Given the description of an element on the screen output the (x, y) to click on. 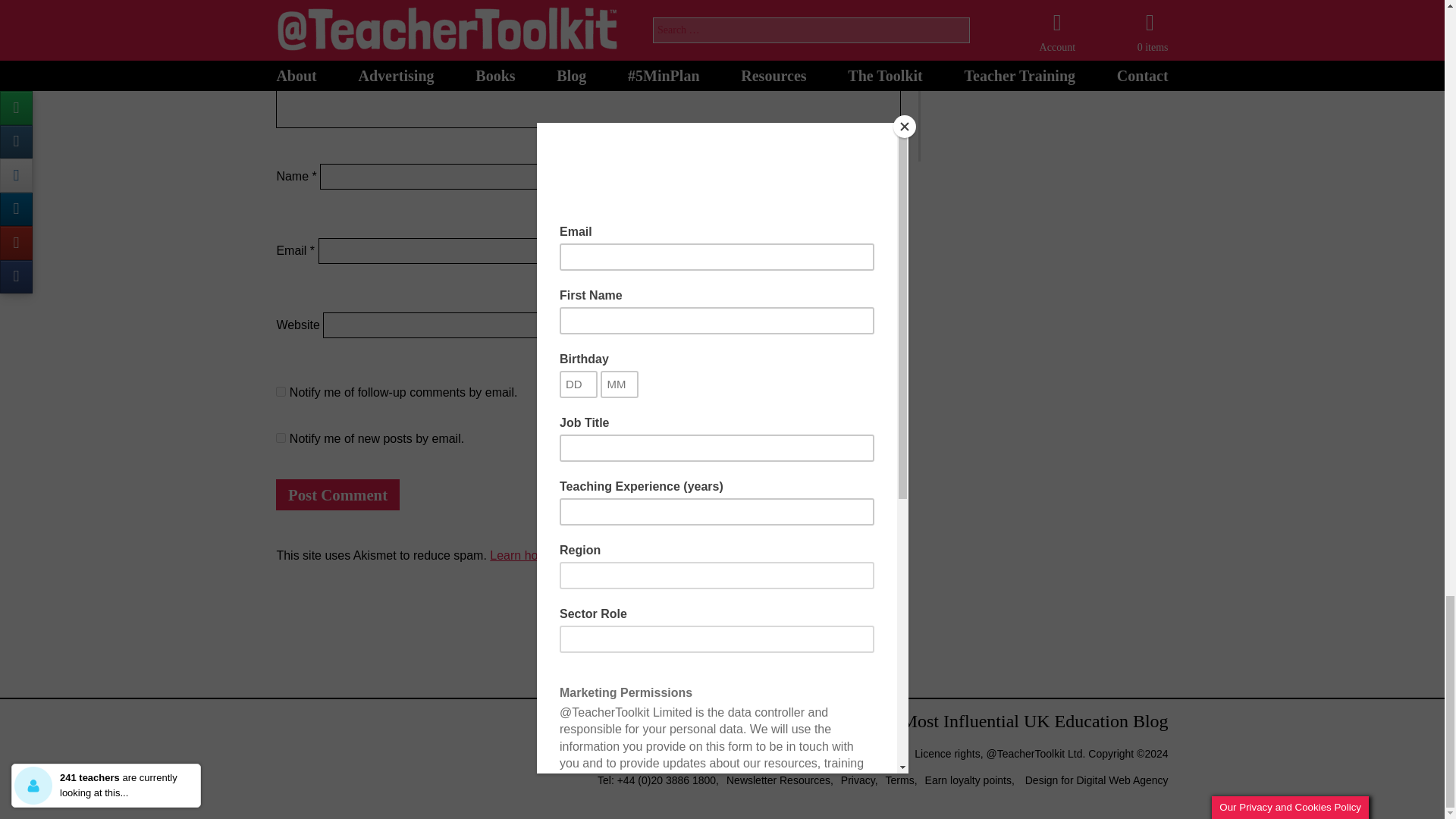
subscribe (280, 438)
Post Comment (337, 495)
subscribe (280, 391)
